Given the description of an element on the screen output the (x, y) to click on. 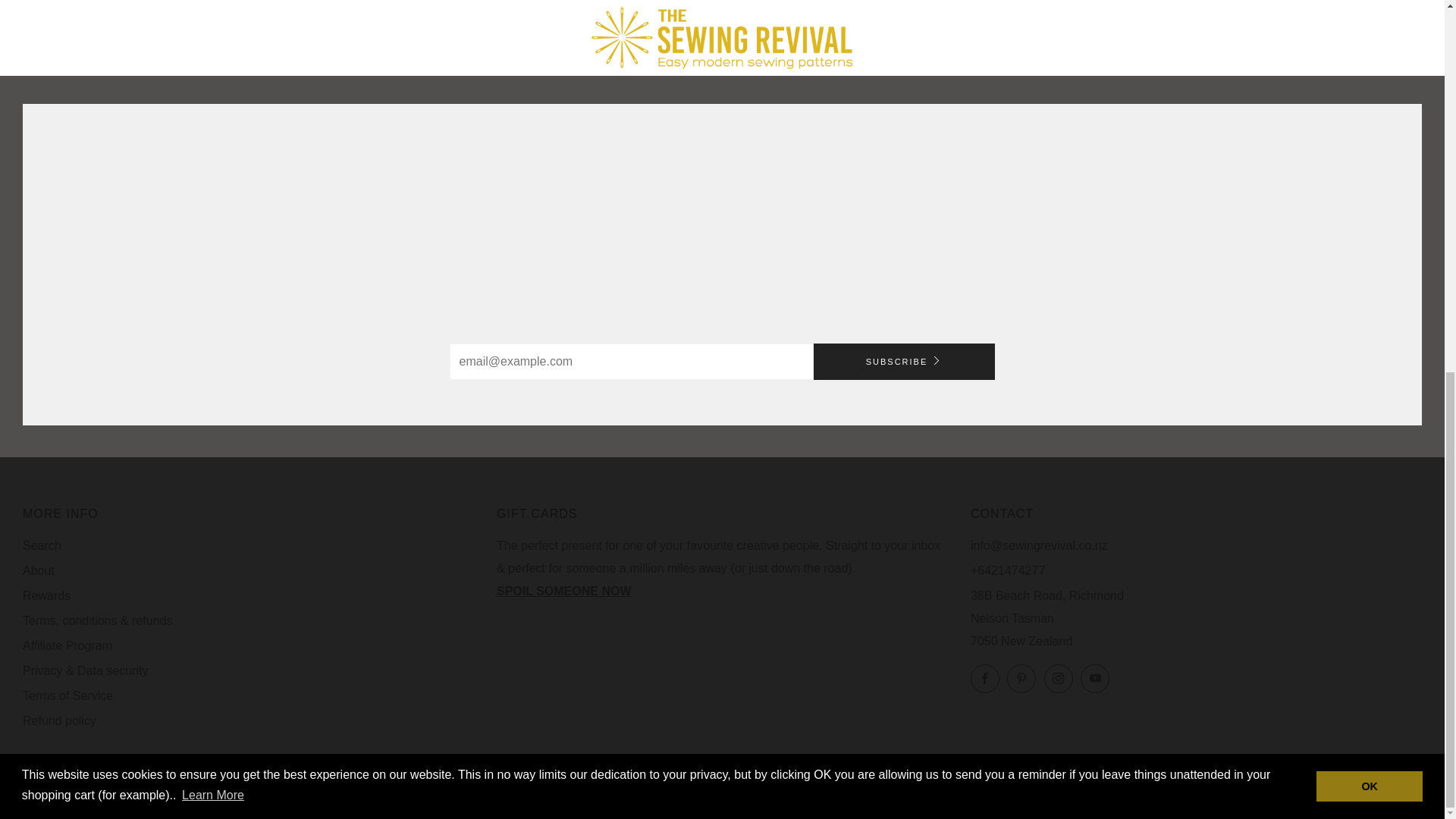
Foldaway shopping bag (544, 4)
Pillowcase PJs (899, 31)
Learn More (212, 115)
Gift Card (563, 590)
Pillowcase PJs (899, 4)
Foldaway shopping bag (544, 31)
OK (1369, 106)
